Given the description of an element on the screen output the (x, y) to click on. 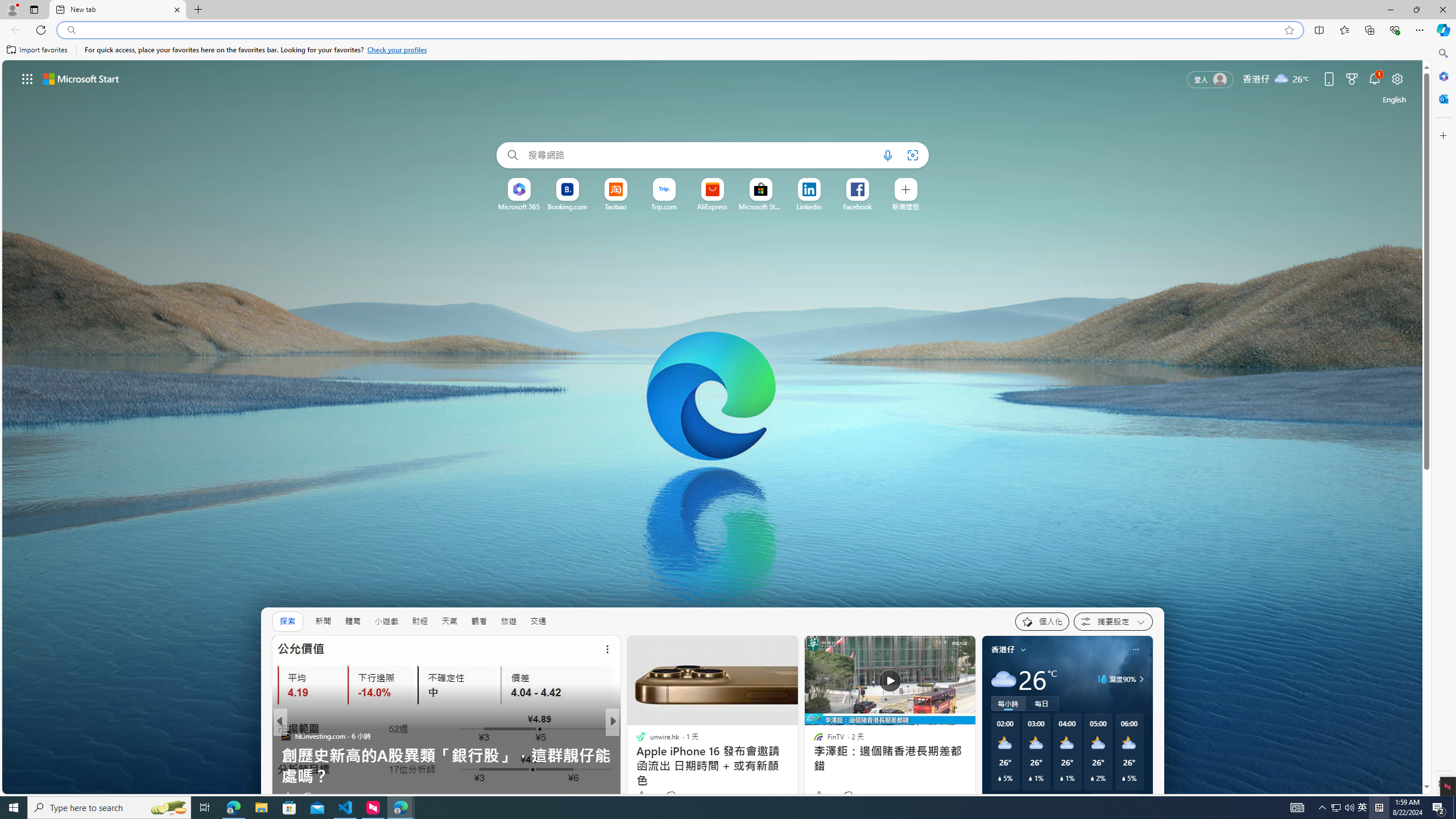
Microsoft Store (760, 206)
To get missing image descriptions, open the context menu. (712, 426)
Class: weather-arrow-glyph (1141, 678)
